Given the description of an element on the screen output the (x, y) to click on. 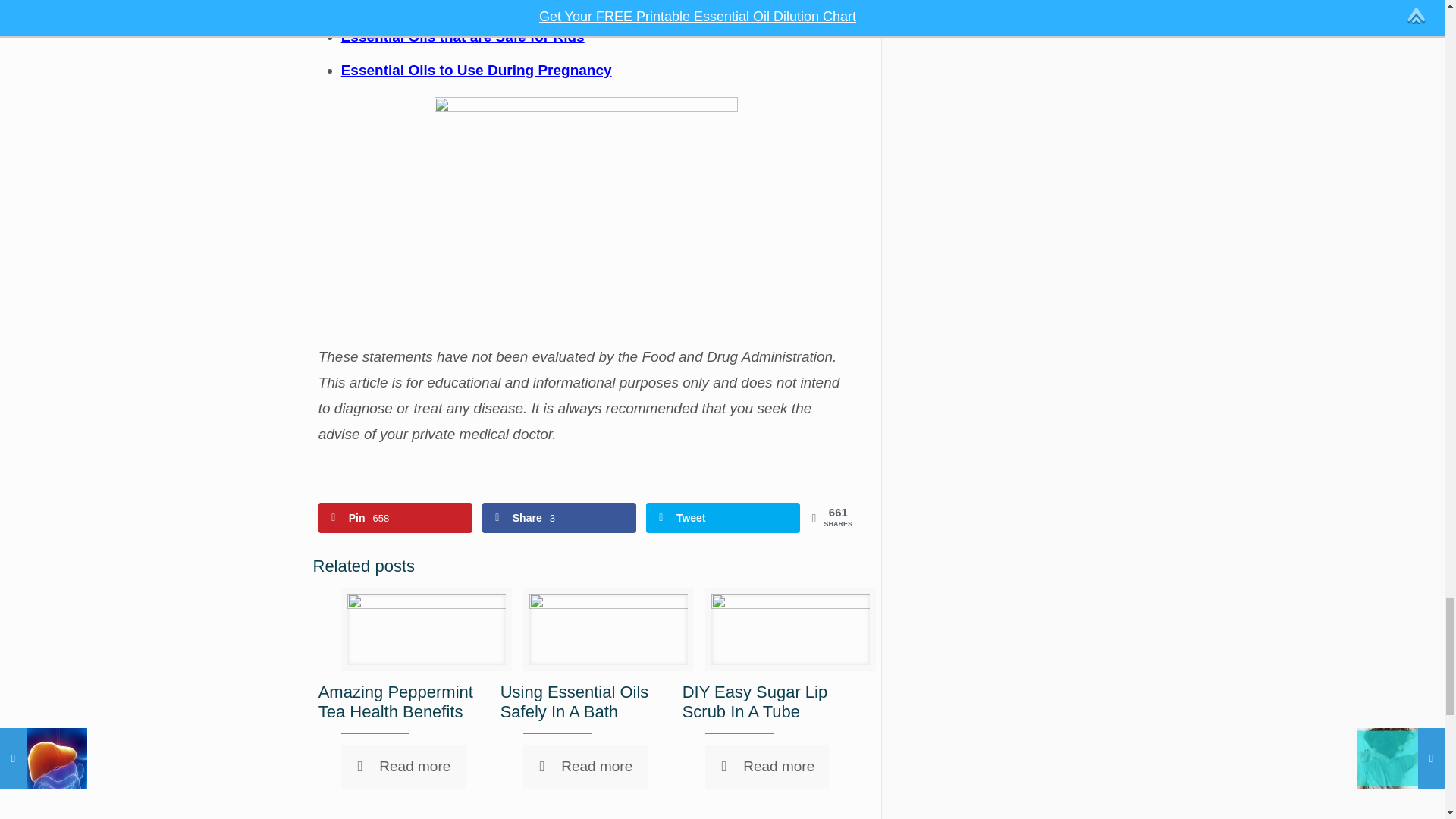
Essential Oils to Use During Pregnancy (475, 69)
Essential Oils that are Safe for Kids (462, 36)
Share3 (558, 517)
Tweet (722, 517)
How to Dilute Essential Oils for Topical Use (489, 5)
Pin658 (394, 517)
